Given the description of an element on the screen output the (x, y) to click on. 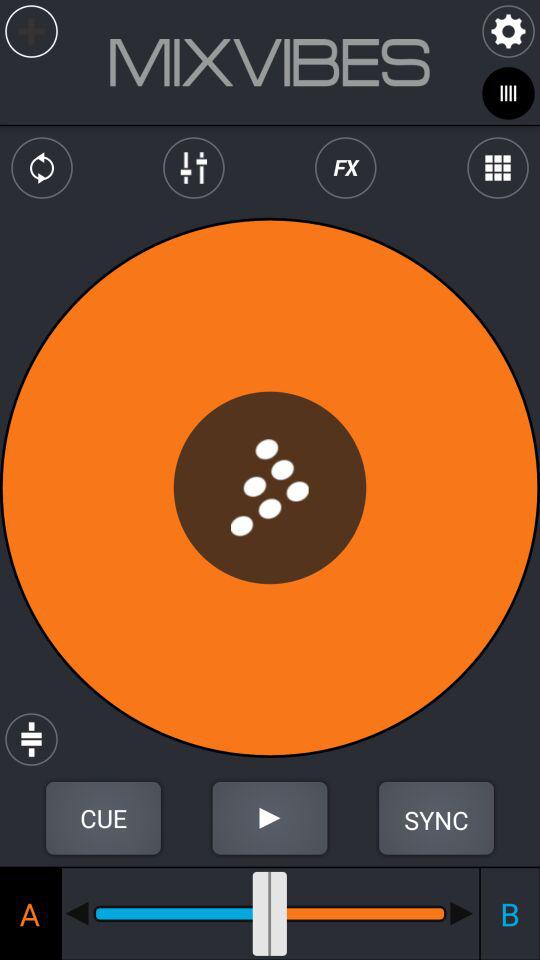
add track (31, 31)
